Given the description of an element on the screen output the (x, y) to click on. 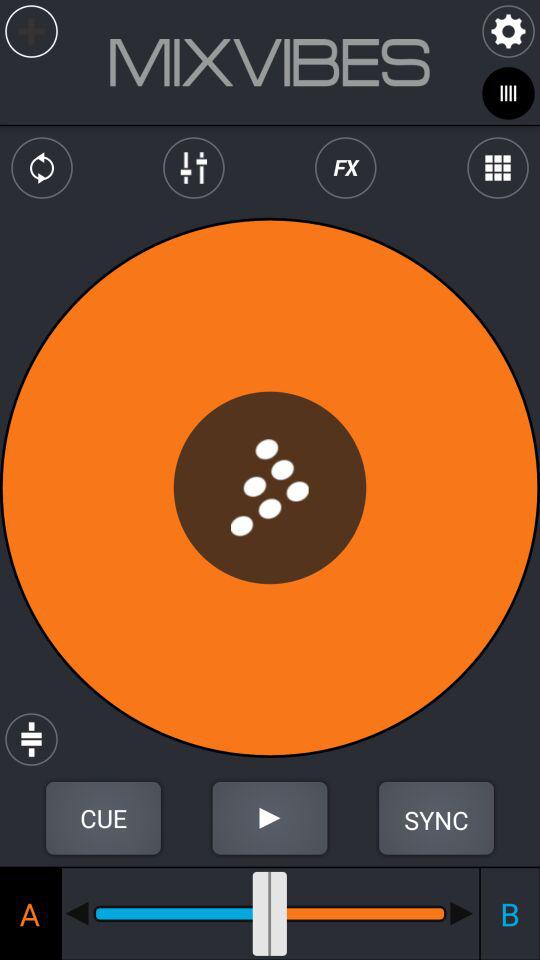
add track (31, 31)
